Given the description of an element on the screen output the (x, y) to click on. 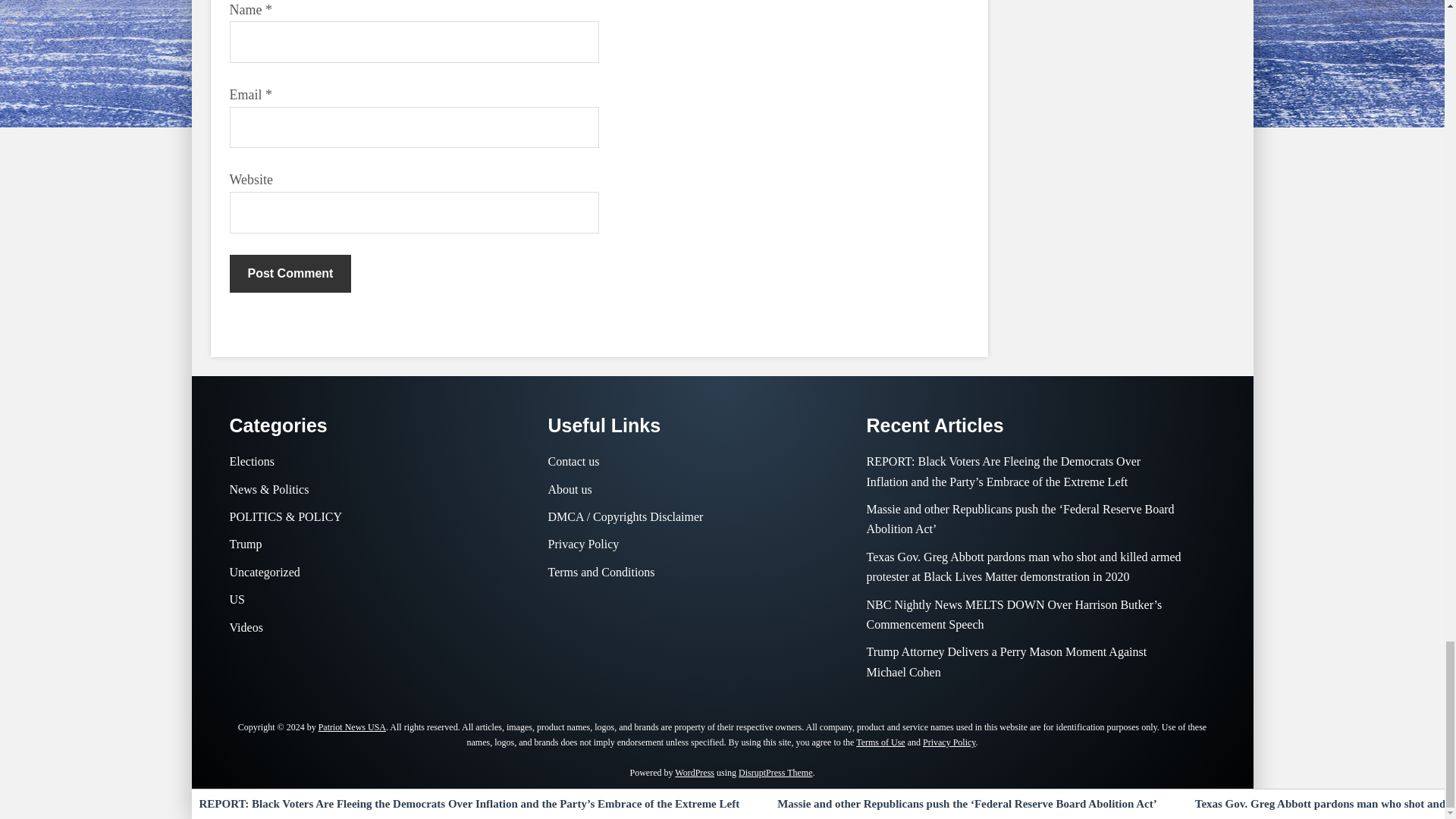
Post Comment (289, 273)
